Given the description of an element on the screen output the (x, y) to click on. 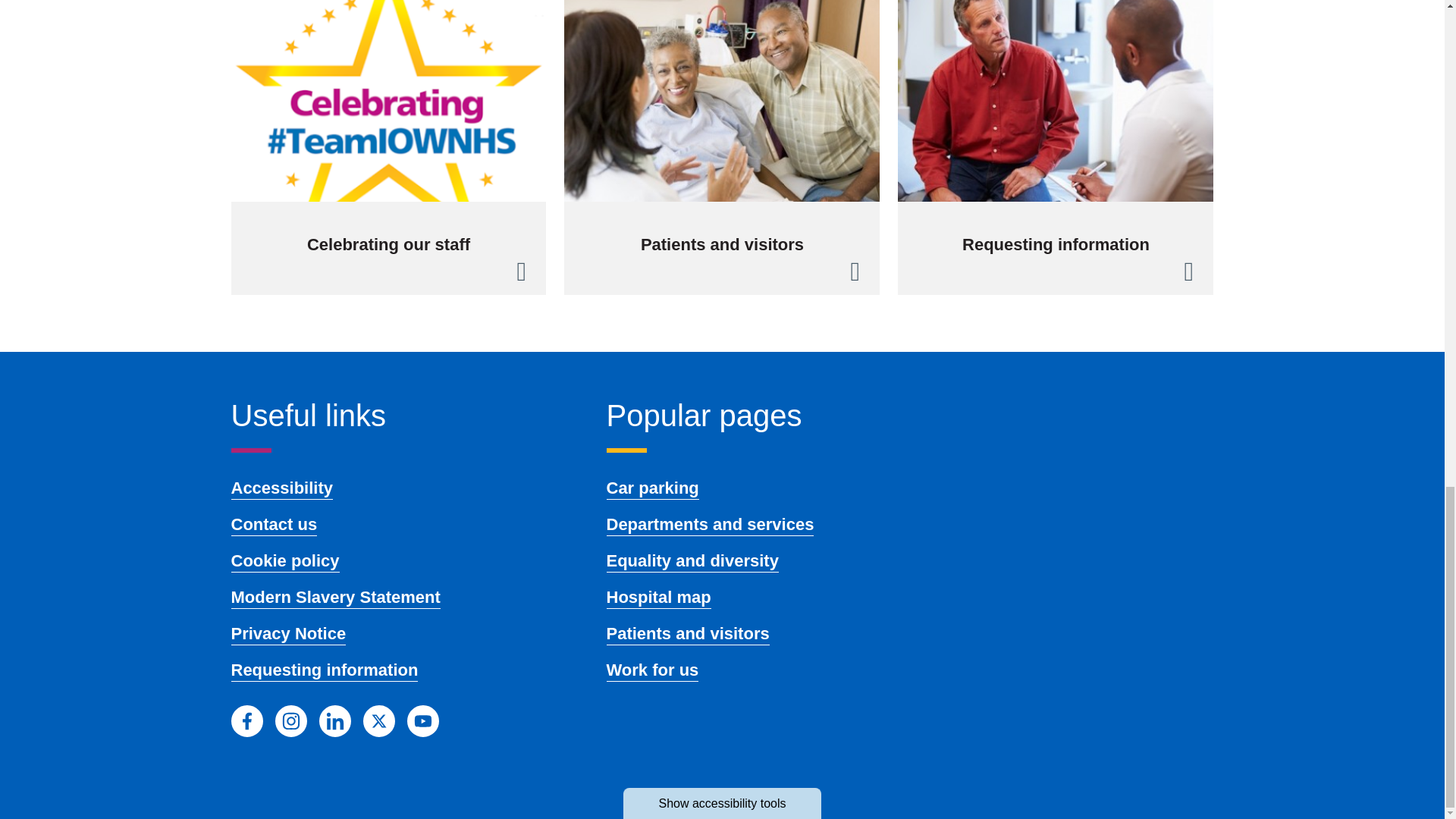
Instagram (290, 721)
X (378, 721)
Requesting information (1055, 147)
Facebook (246, 721)
Youtube (422, 721)
LinkedIn (334, 721)
Patients and visitors (721, 147)
Celebrating our staff (388, 147)
